Given the description of an element on the screen output the (x, y) to click on. 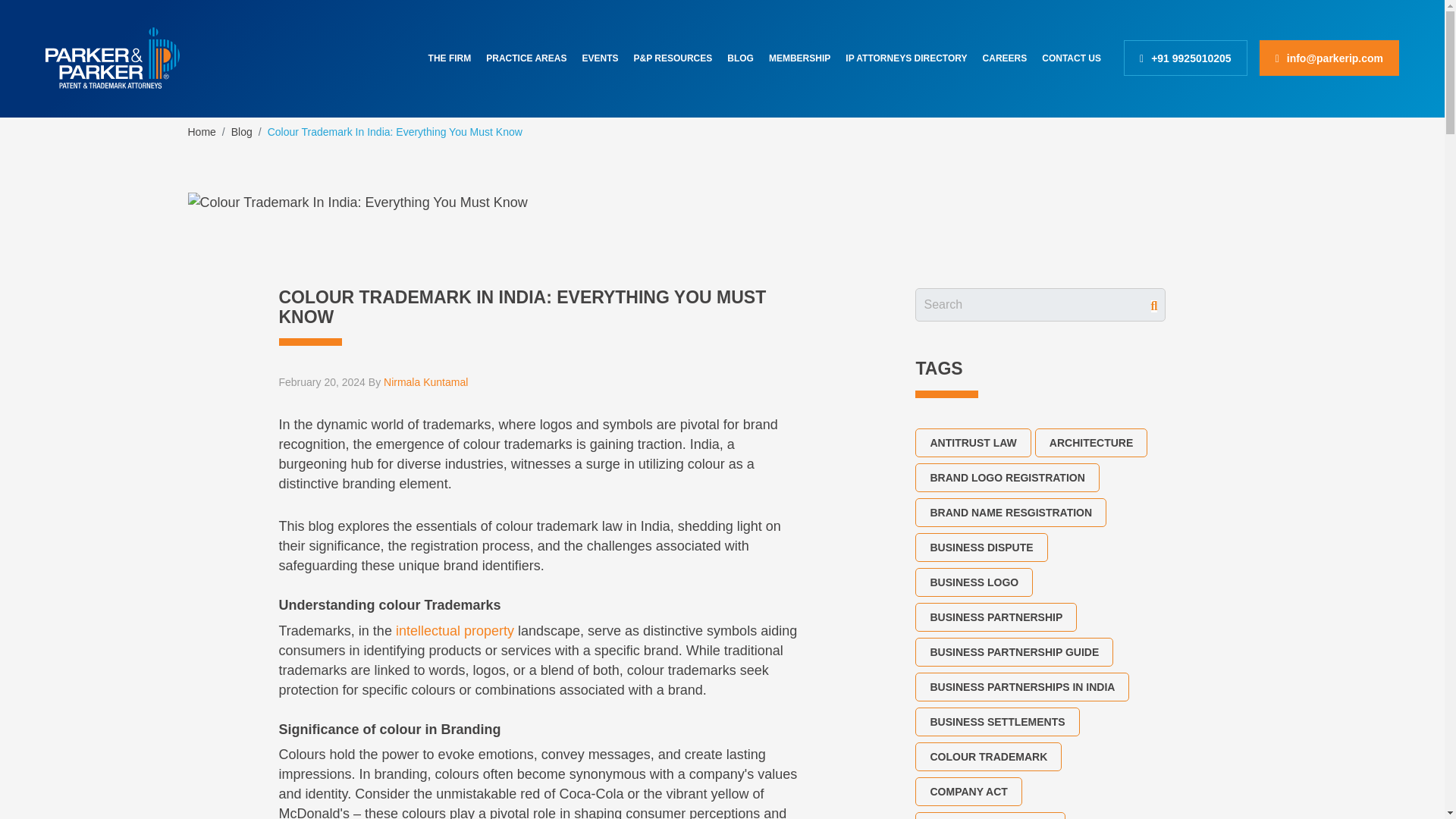
Blog (241, 132)
Home (201, 132)
BLOG (740, 57)
THE FIRM (449, 57)
PRACTICE AREAS (526, 57)
EVENTS (598, 57)
MEMBERSHIP (798, 57)
